Given the description of an element on the screen output the (x, y) to click on. 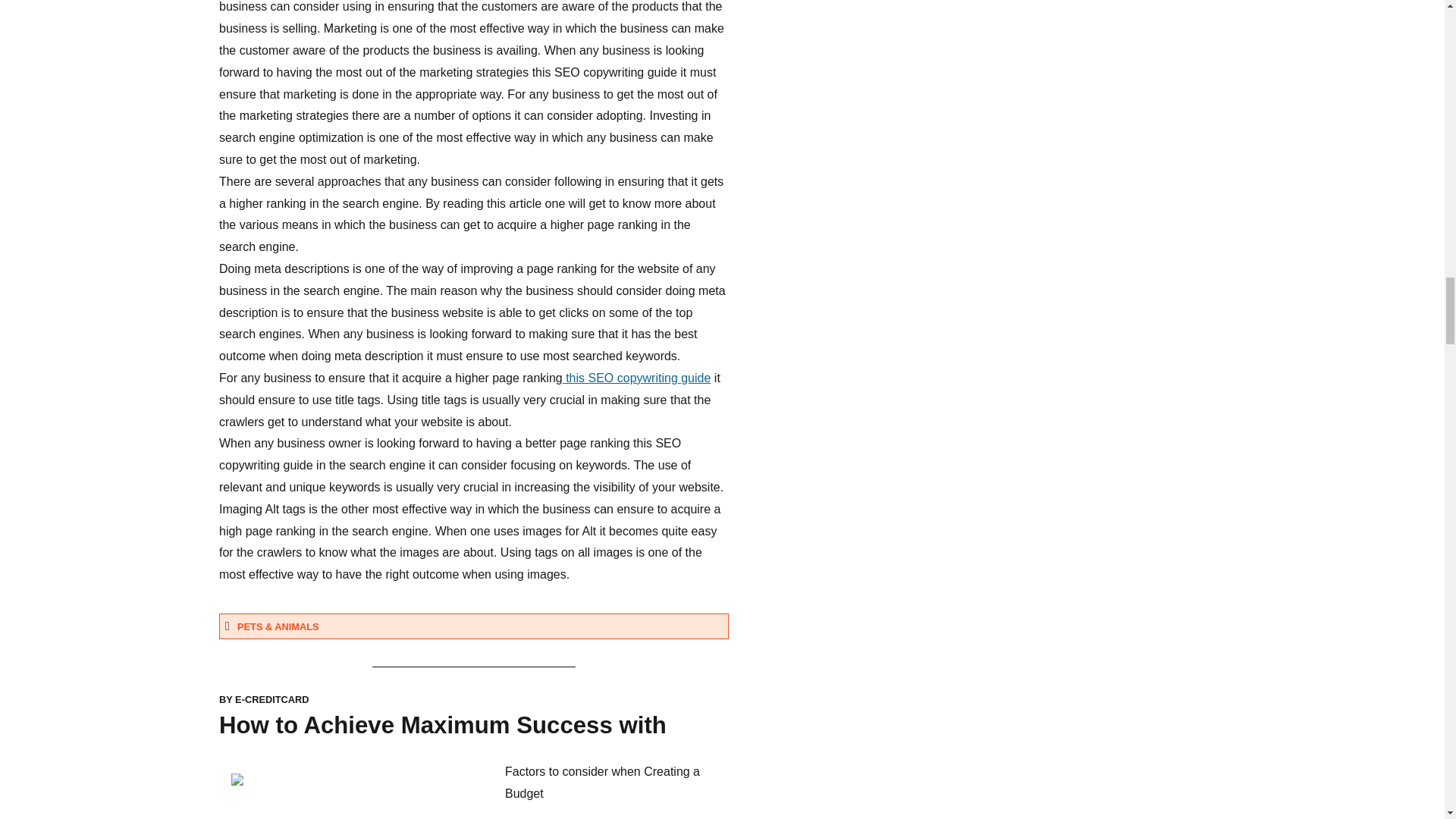
How to Achieve Maximum Success with (442, 724)
this SEO copywriting guide (636, 377)
